Given the description of an element on the screen output the (x, y) to click on. 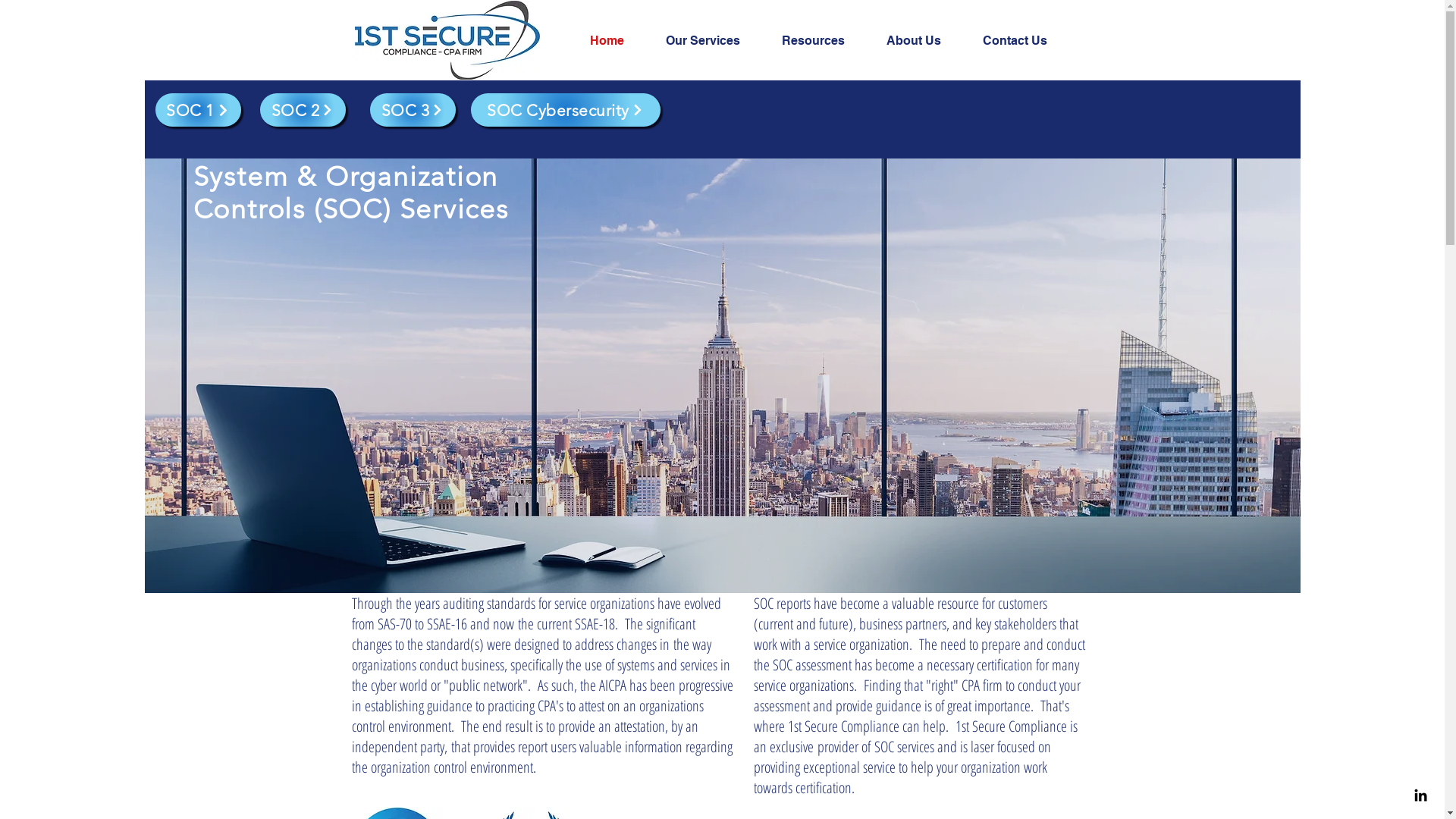
About Us Element type: text (923, 40)
Contact Us Element type: text (1023, 40)
SOC 1 Element type: text (244, 109)
SOC 2 Element type: text (754, 109)
SOC 3 Element type: text (1386, 109)
Home Element type: text (615, 40)
Our Services Element type: text (711, 40)
